Given the description of an element on the screen output the (x, y) to click on. 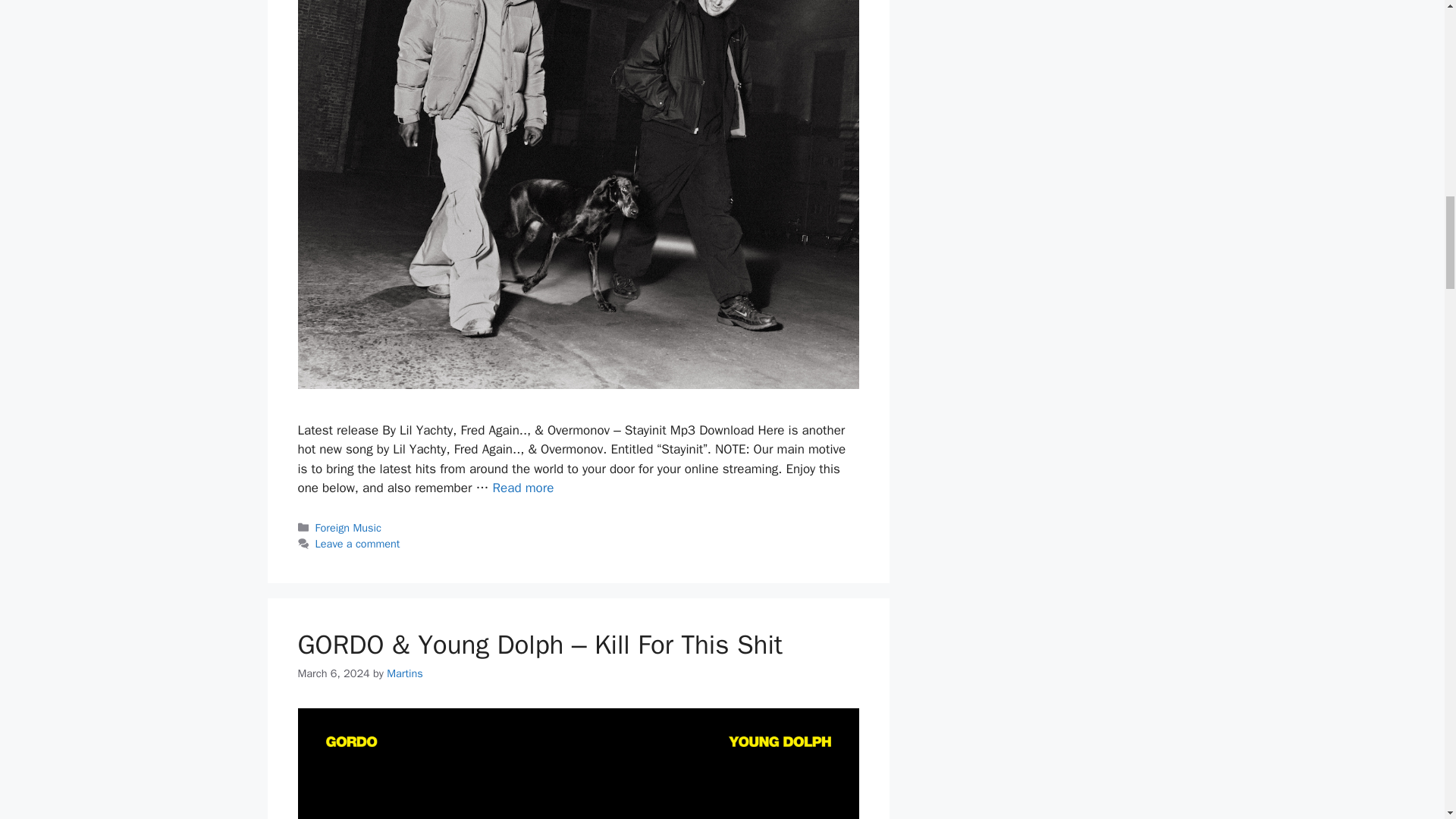
Read more (523, 487)
View all posts by Martins (405, 673)
Foreign Music (348, 527)
Martins (405, 673)
Leave a comment (357, 543)
